Given the description of an element on the screen output the (x, y) to click on. 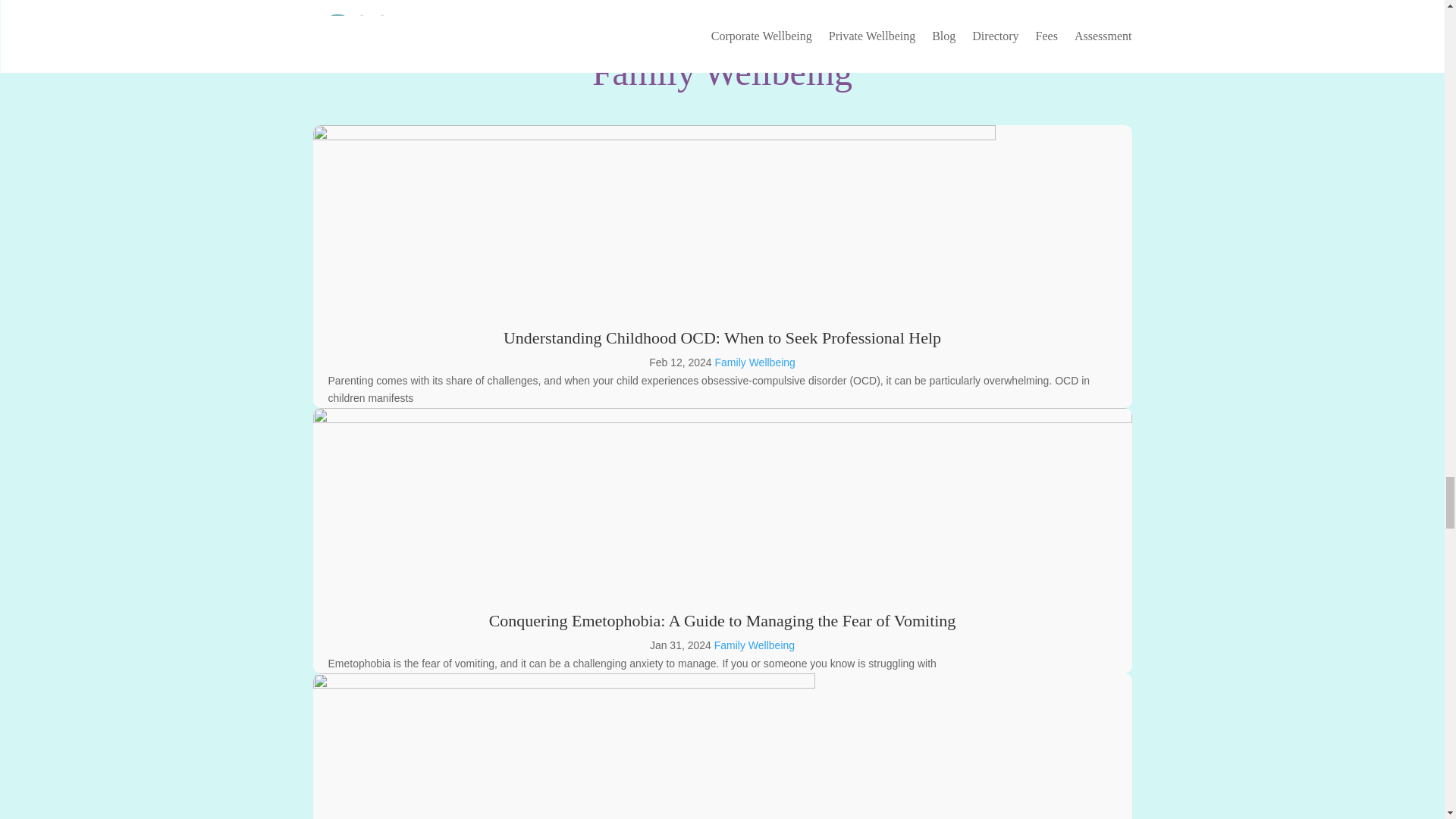
Understanding Childhood OCD: When to Seek Professional Help (721, 337)
